Given the description of an element on the screen output the (x, y) to click on. 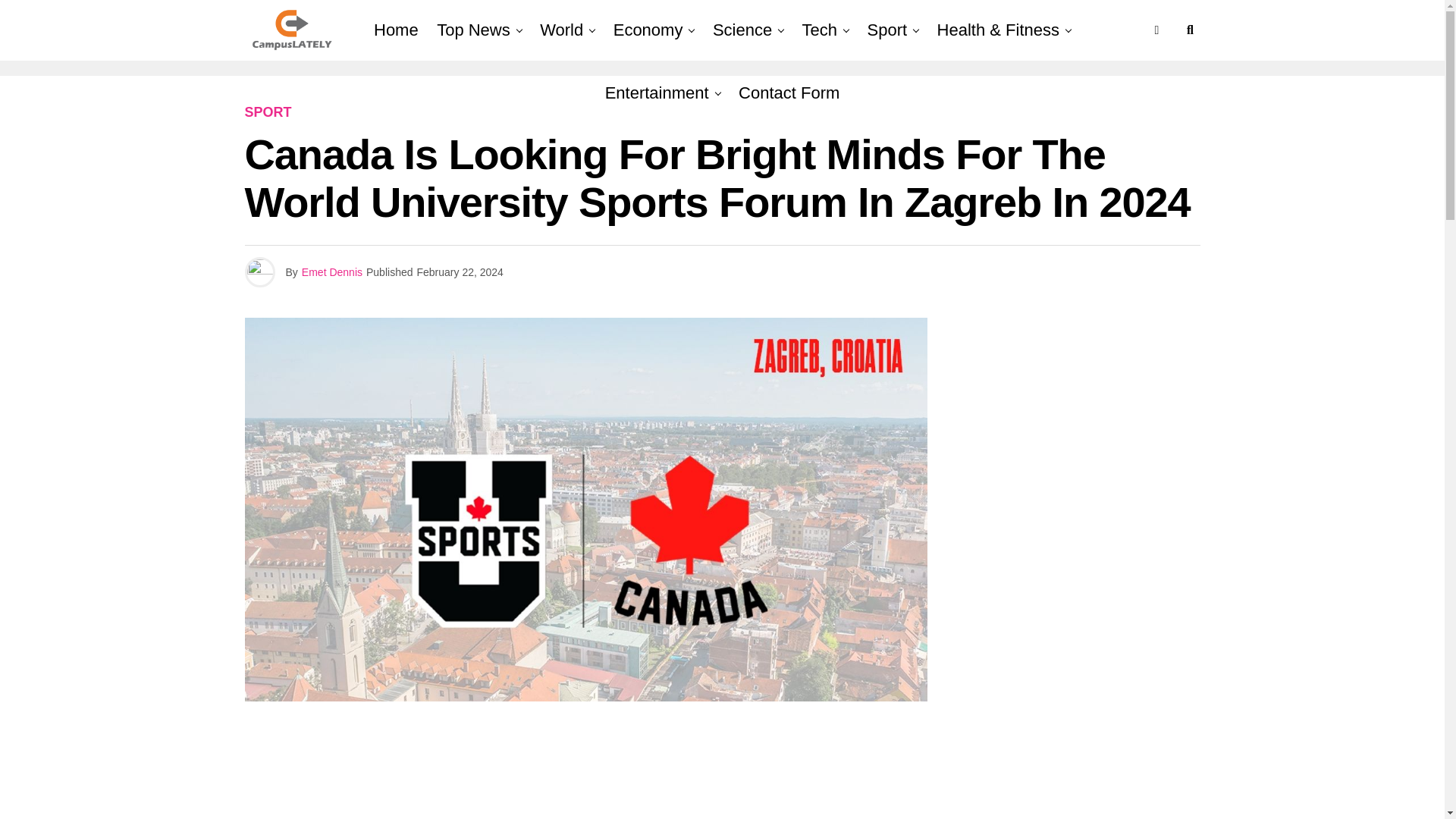
Sport (887, 30)
World (561, 30)
Science (741, 30)
Home (396, 30)
Economy (647, 30)
Top News (473, 30)
